Given the description of an element on the screen output the (x, y) to click on. 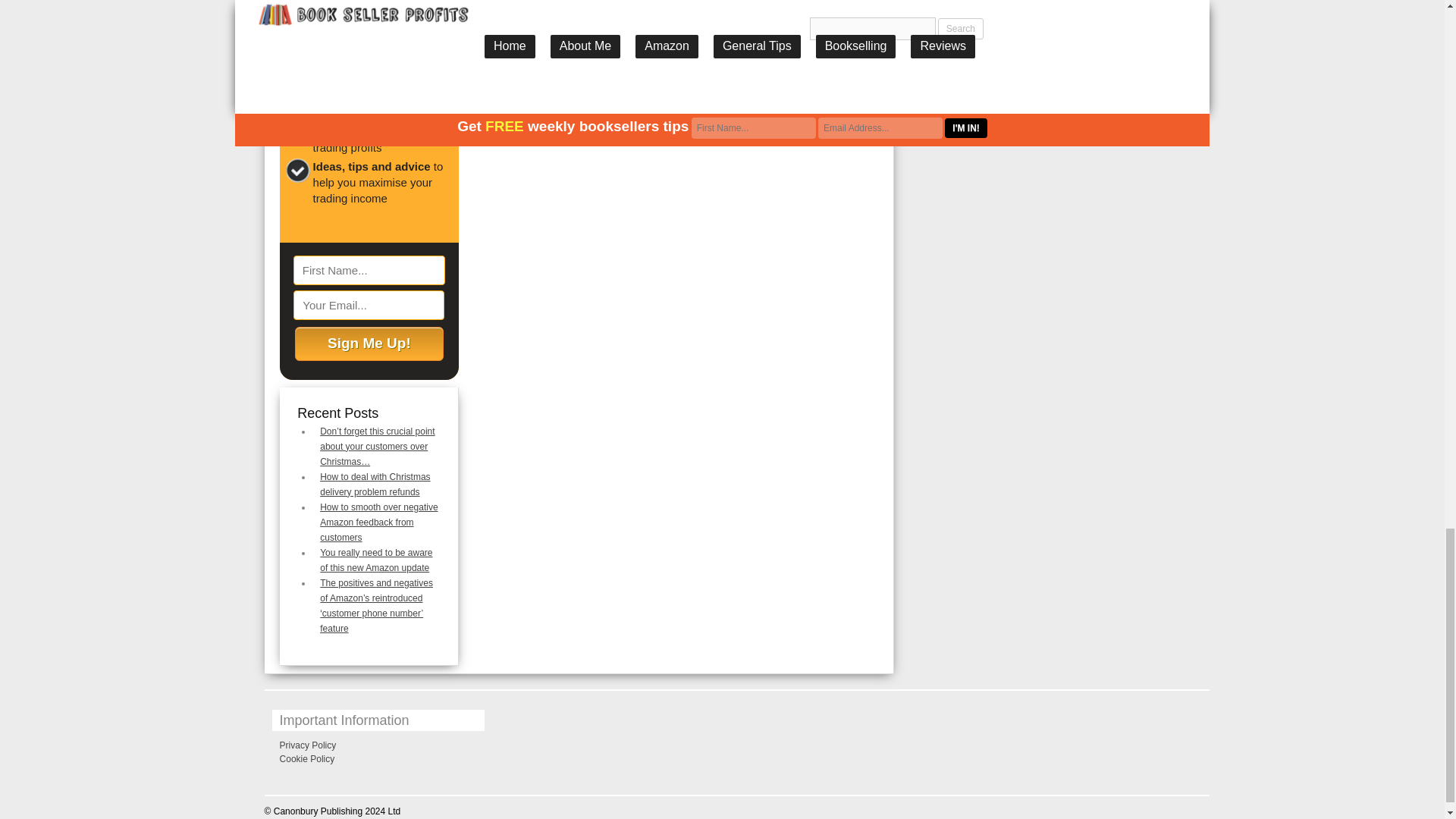
How to deal with Christmas delivery problem refunds (374, 484)
Cookie Policy (306, 758)
Your Email... (369, 305)
How to smooth over negative Amazon feedback from customers (379, 522)
Sign Me Up! (369, 343)
First Name... (369, 270)
You really need to be aware of this new Amazon update (376, 560)
Privacy Policy (307, 745)
